Given the description of an element on the screen output the (x, y) to click on. 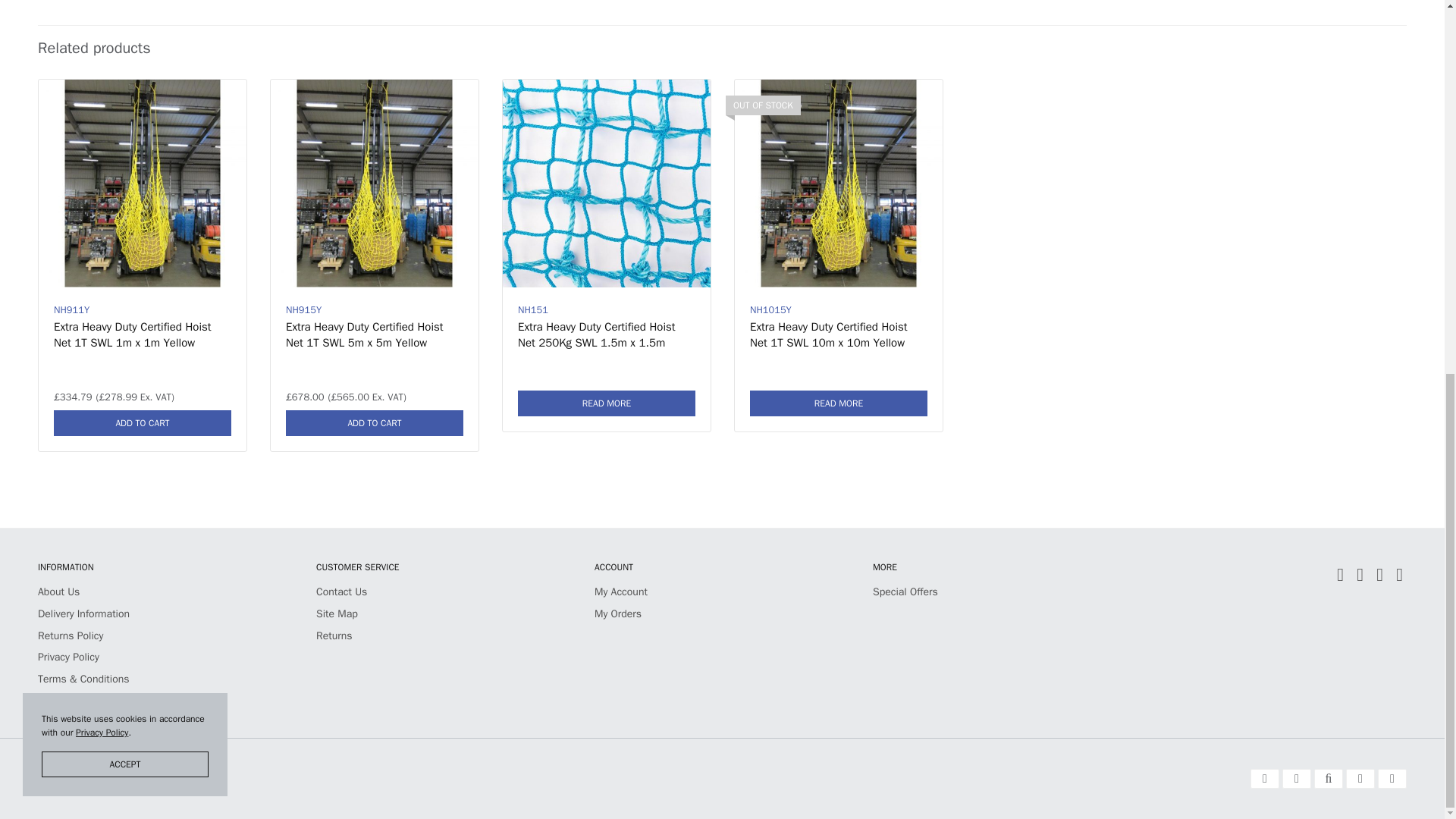
Extra Heavy Duty Certified Hoist Net 250Kg SWL 1.5m x 1.5m (596, 334)
Extra Heavy Duty Certified Hoist Net 1T SWL 5m x 5m Yellow (364, 334)
Extra Heavy Duty Certified Hoist Net 250Kg SWL 1.5m x 1.5m (606, 183)
Extra Heavy Duty Certified Hoist Net 1T SWL 1m x 1m Yellow (132, 334)
Extra Heavy Duty Certified Hoist Net 1T SWL 5m x 5m Yellow (374, 183)
Extra Heavy Duty Certified Hoist Net 1T SWL 1m x 1m Yellow (142, 183)
